Given the description of an element on the screen output the (x, y) to click on. 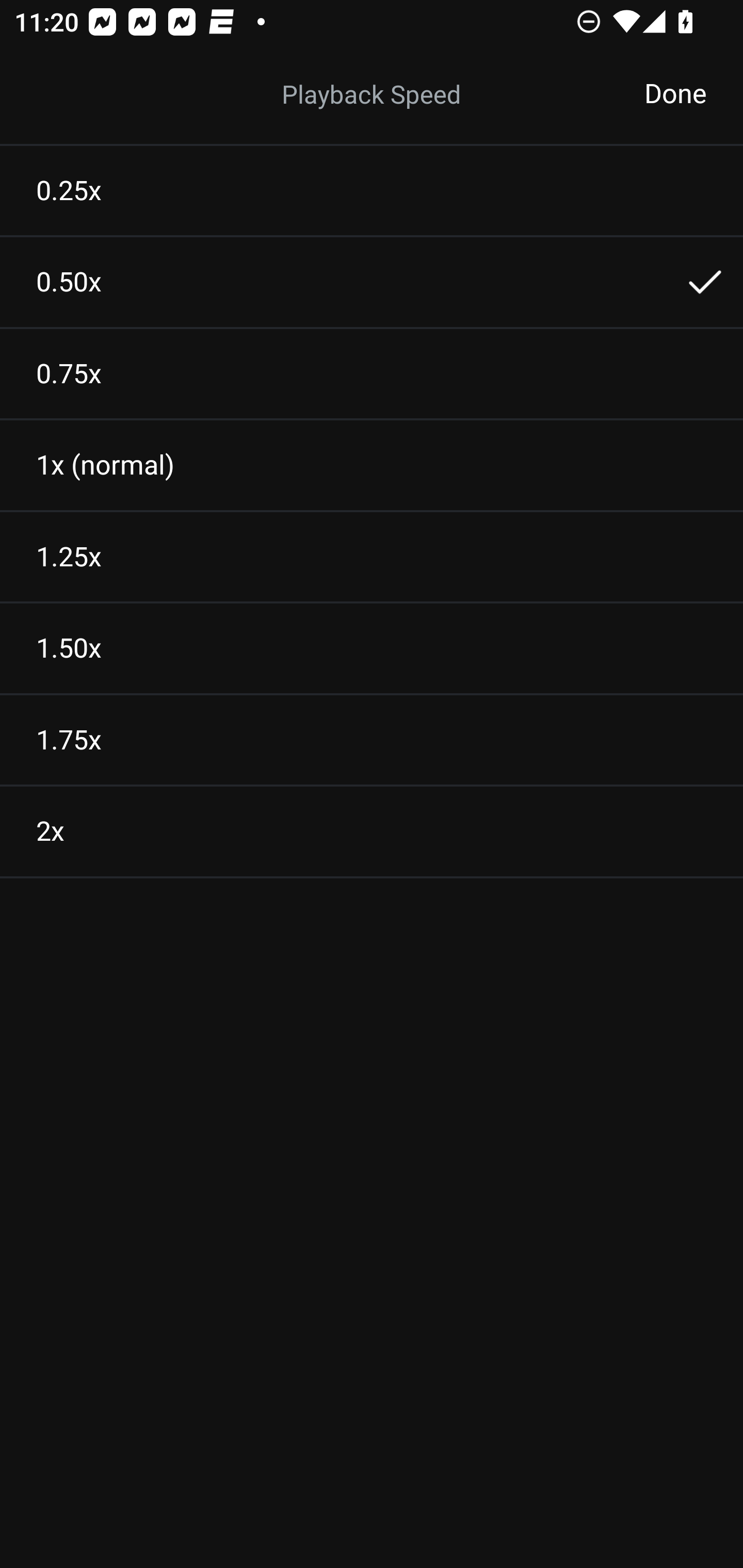
Listening (371, 93)
Done (675, 93)
0.25x (371, 190)
0.50x (371, 281)
0.75x (371, 373)
1x (normal) (371, 464)
1.25x (371, 557)
1.50x (371, 648)
1.75x (371, 739)
2x (371, 831)
